Given the description of an element on the screen output the (x, y) to click on. 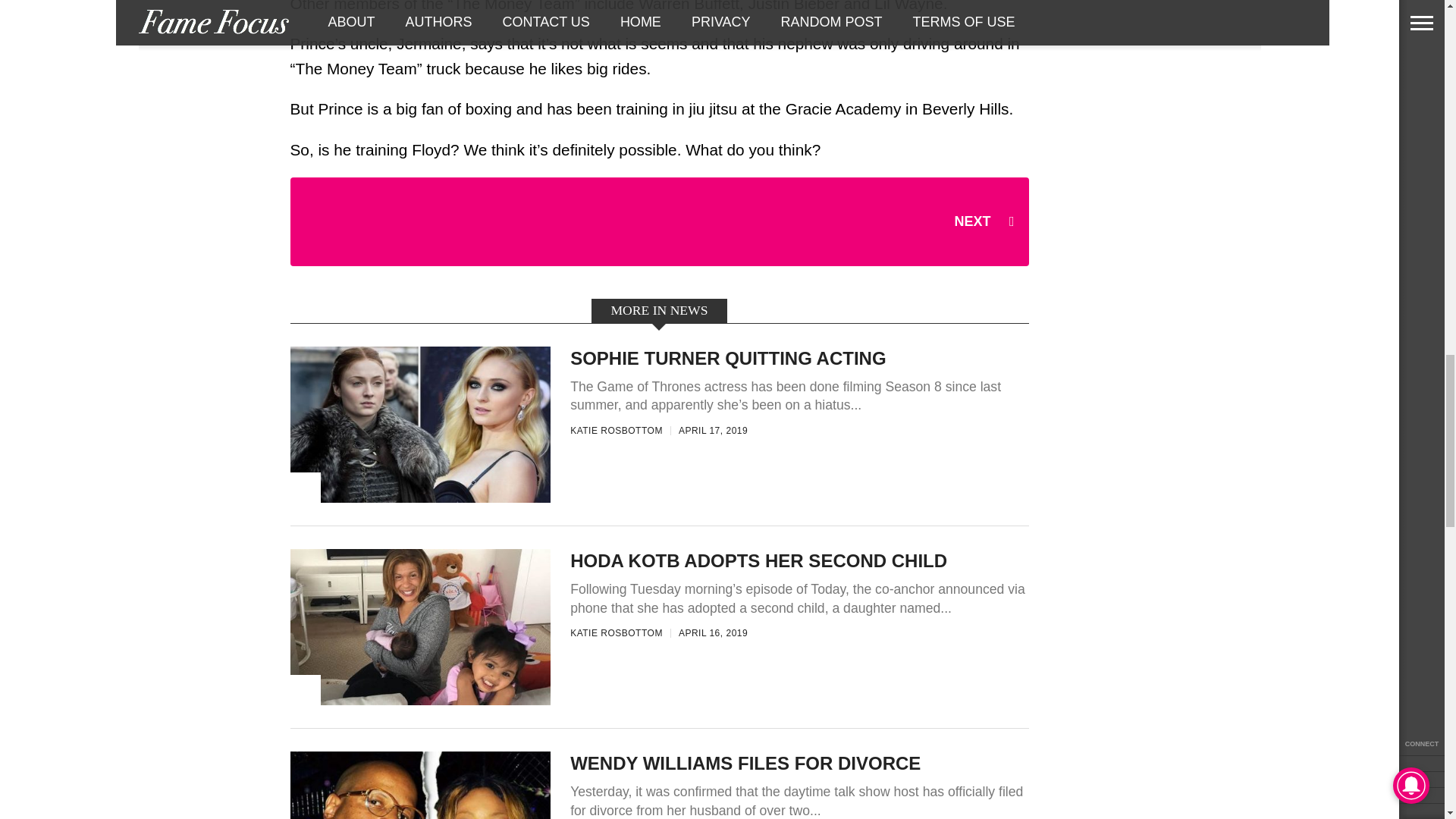
Sophie Turner Quitting Acting (419, 498)
